Given the description of an element on the screen output the (x, y) to click on. 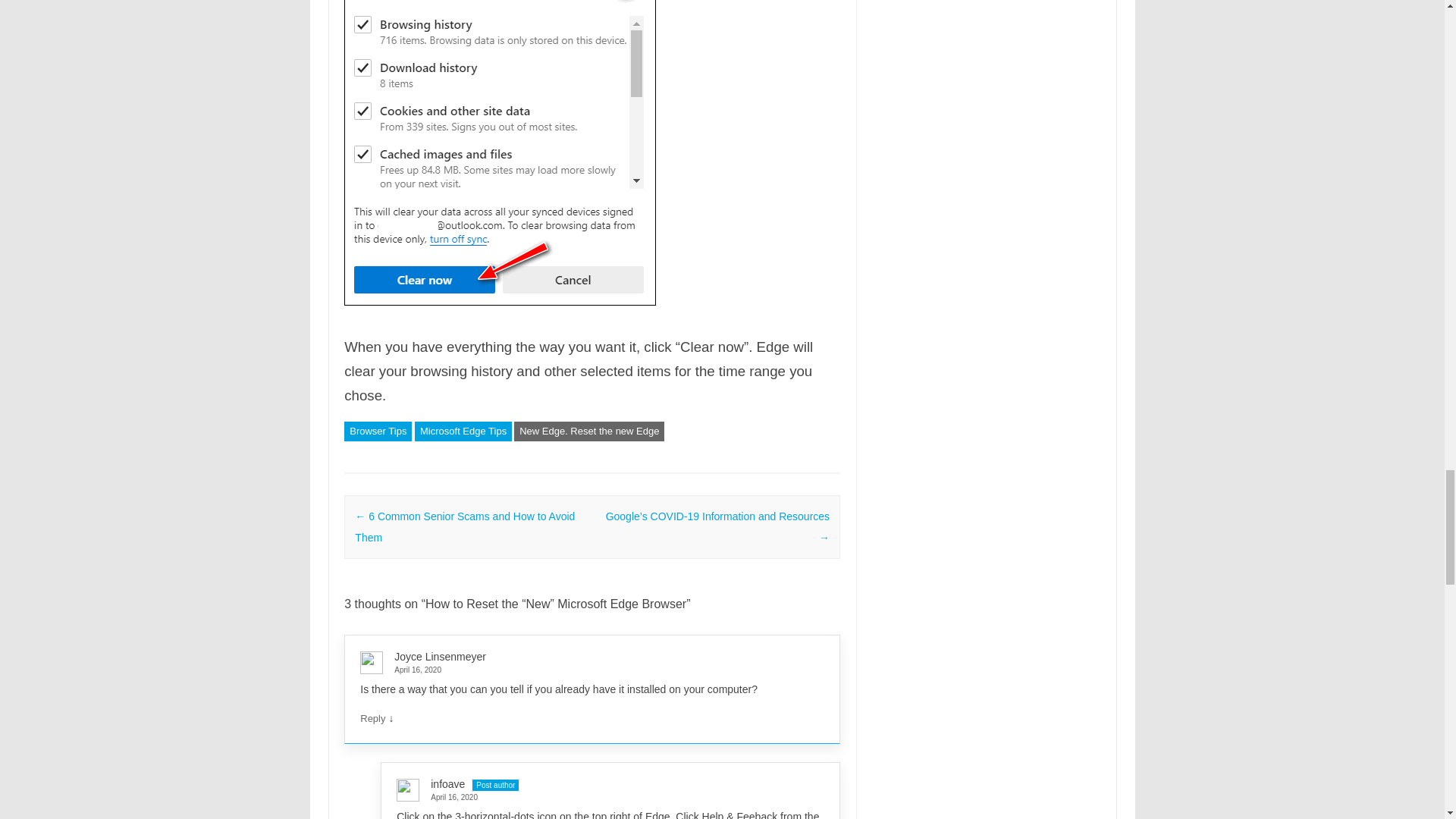
April 16, 2020 (585, 669)
Microsoft Edge Tips (463, 431)
Browser Tips (377, 431)
New Edge. Reset the new Edge (588, 431)
April 16, 2020 (604, 797)
Reply (372, 717)
